Given the description of an element on the screen output the (x, y) to click on. 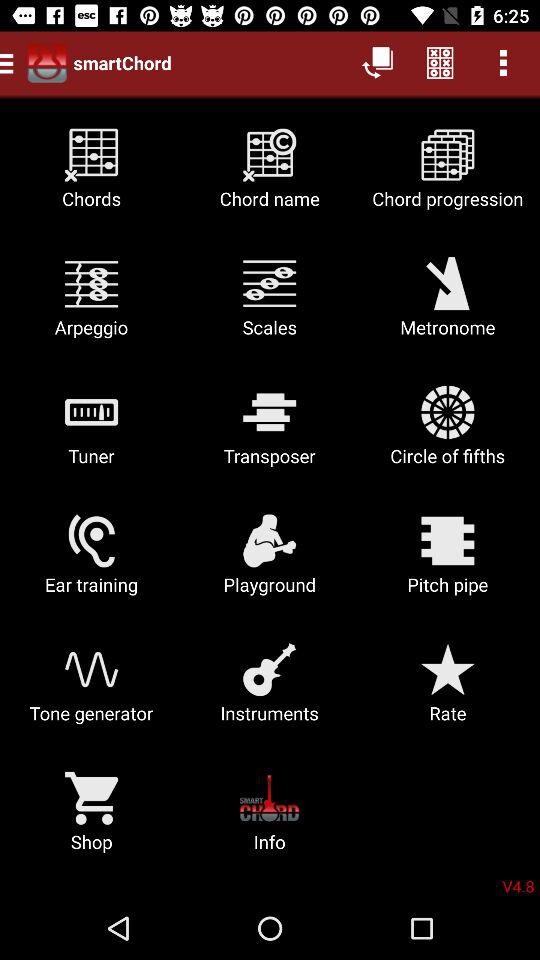
launch item to the right of chords icon (269, 175)
